Given the description of an element on the screen output the (x, y) to click on. 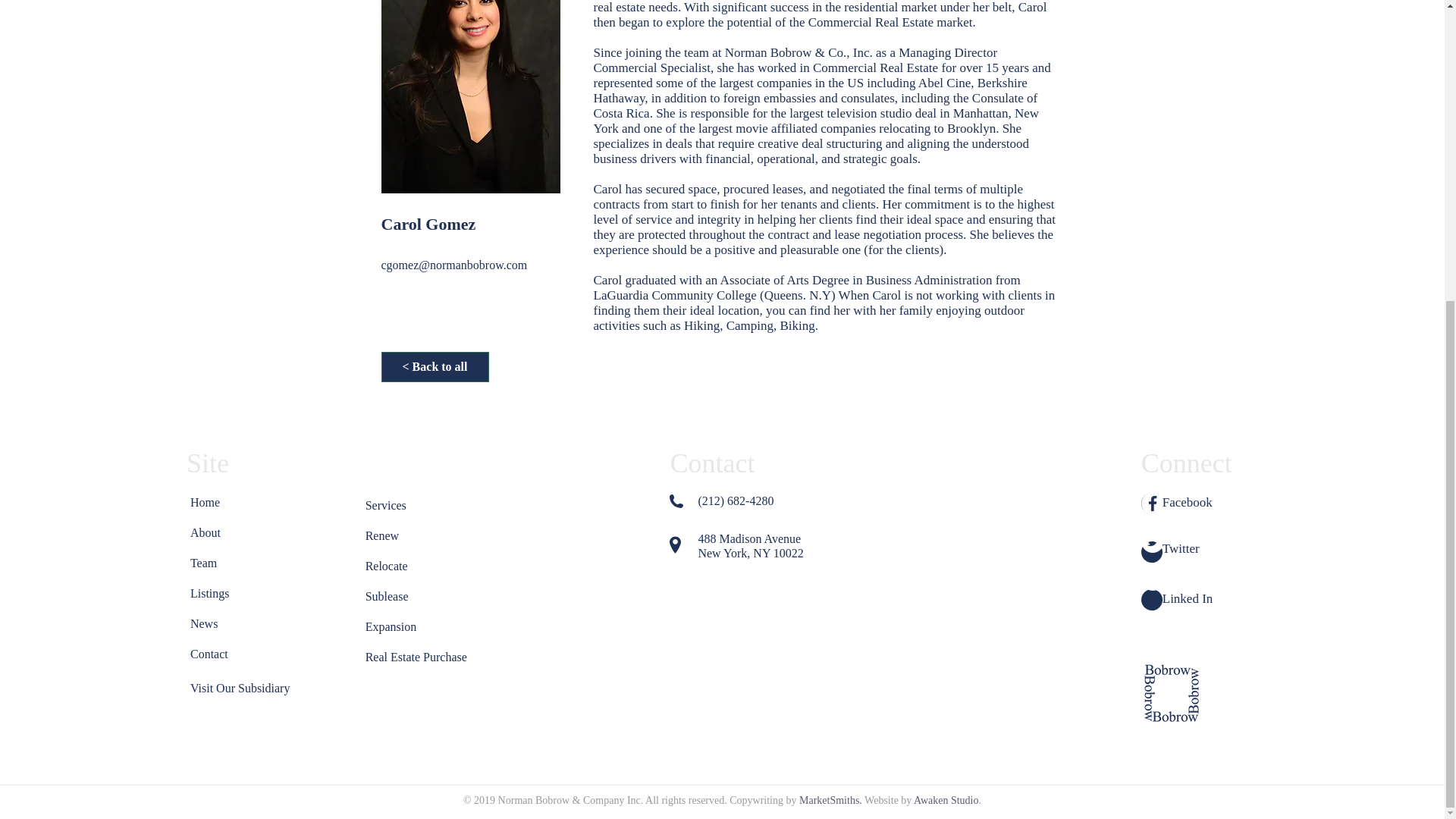
News (224, 624)
Relocate (400, 566)
Real Estate Purchase (418, 657)
Contact (224, 654)
Twitter (1180, 548)
Expansion (400, 626)
Facebook (1186, 502)
Services (400, 505)
Linked In (1186, 598)
About (224, 532)
